Given the description of an element on the screen output the (x, y) to click on. 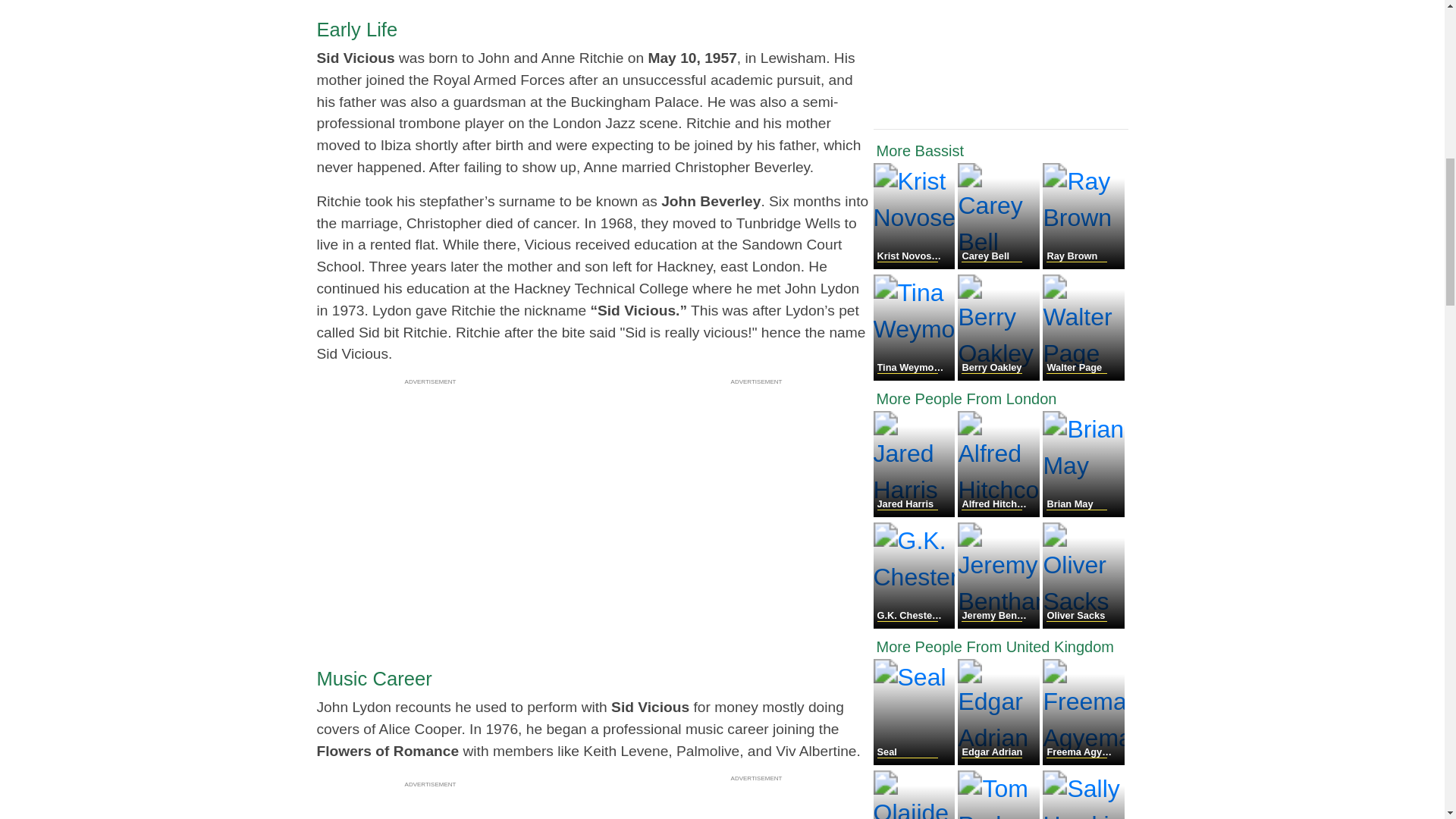
Berry Oakley (1000, 376)
Ray Brown (1083, 264)
Brian May (1083, 512)
Oliver Sacks (1083, 624)
More Bassist (1000, 150)
Carey Bell (1000, 264)
Freema Agyeman (1083, 760)
Jared Harris (915, 512)
Krist Novoselic (915, 264)
G.K. Chesterton (915, 624)
